Given the description of an element on the screen output the (x, y) to click on. 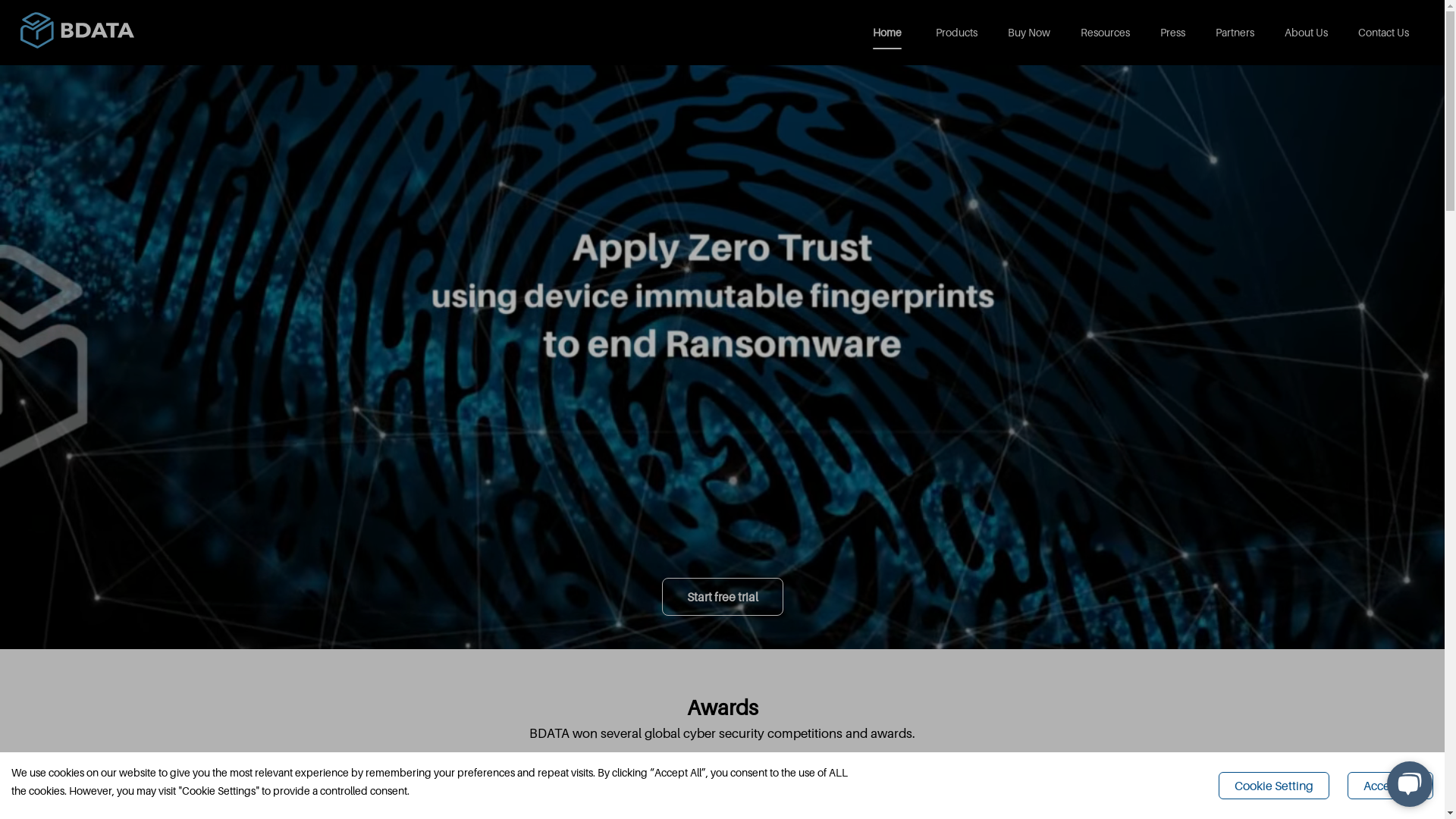
Resources Element type: text (1104, 32)
Products Element type: text (956, 32)
About Us Element type: text (1305, 32)
Home Element type: text (888, 32)
Press Element type: text (1172, 32)
Contact Us Element type: text (1383, 32)
Accept All Element type: text (1390, 785)
Buy Now Element type: text (1028, 32)
Start free trial Element type: text (721, 596)
Partners Element type: text (1234, 32)
Cookie Setting Element type: text (1273, 785)
